Given the description of an element on the screen output the (x, y) to click on. 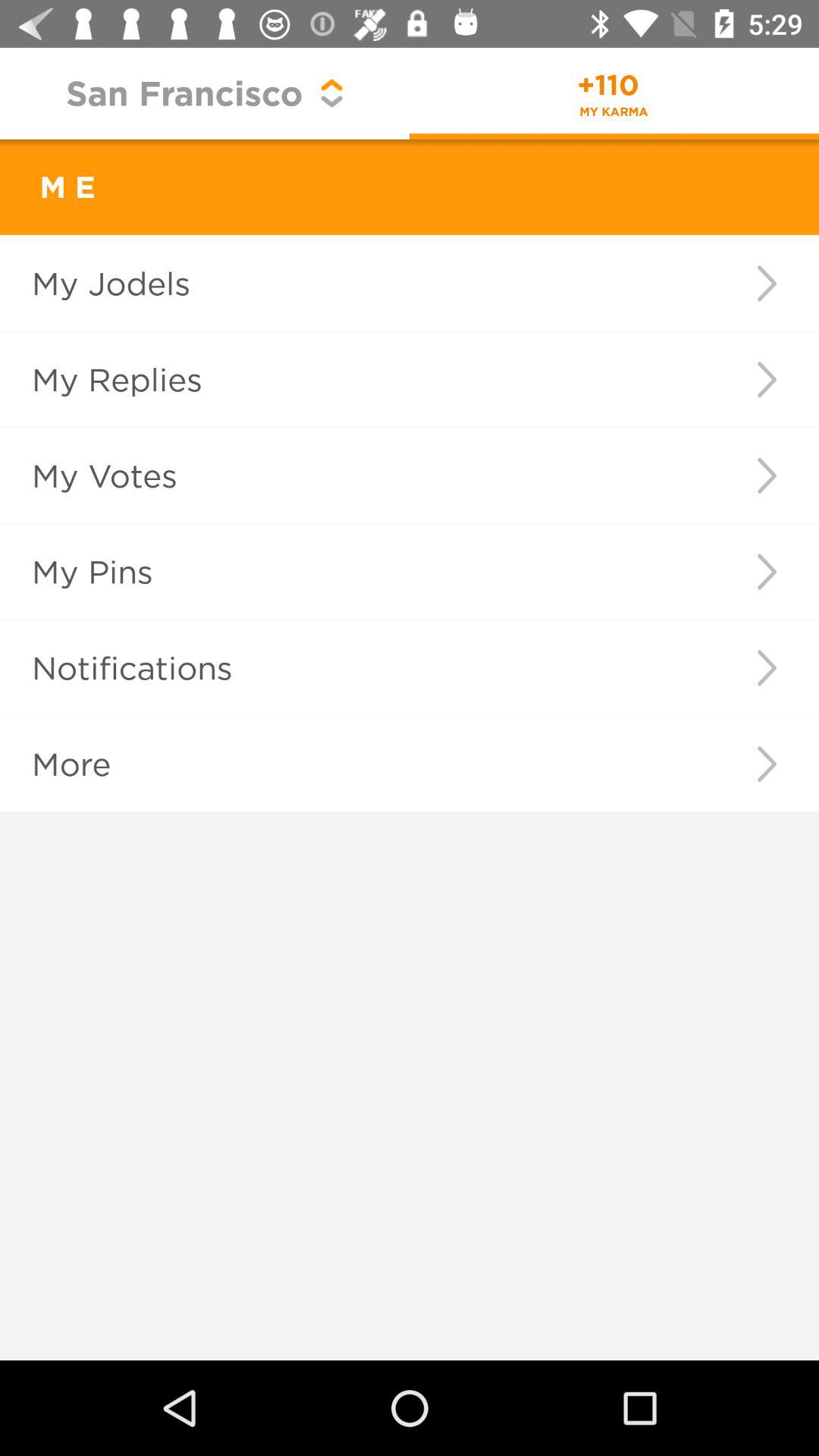
turn on icon to the right of the my jodels icon (766, 283)
